Given the description of an element on the screen output the (x, y) to click on. 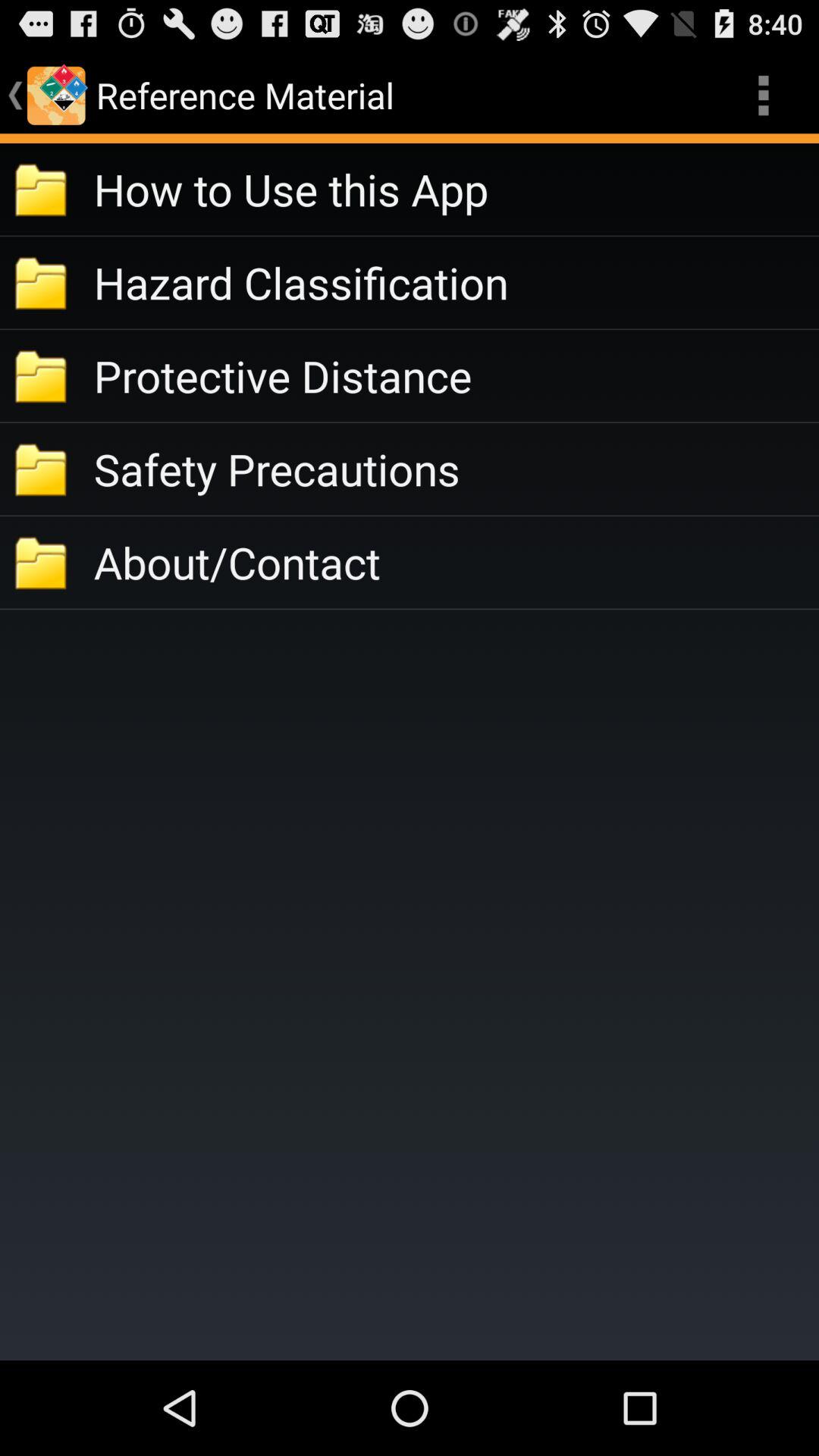
choose the option left side of reference material (55, 95)
click icon left to aboutcontact (42, 562)
click second folder icon from top (42, 282)
click on third folder symbol from top (42, 375)
click on the first folder icon from top (42, 189)
